Given the description of an element on the screen output the (x, y) to click on. 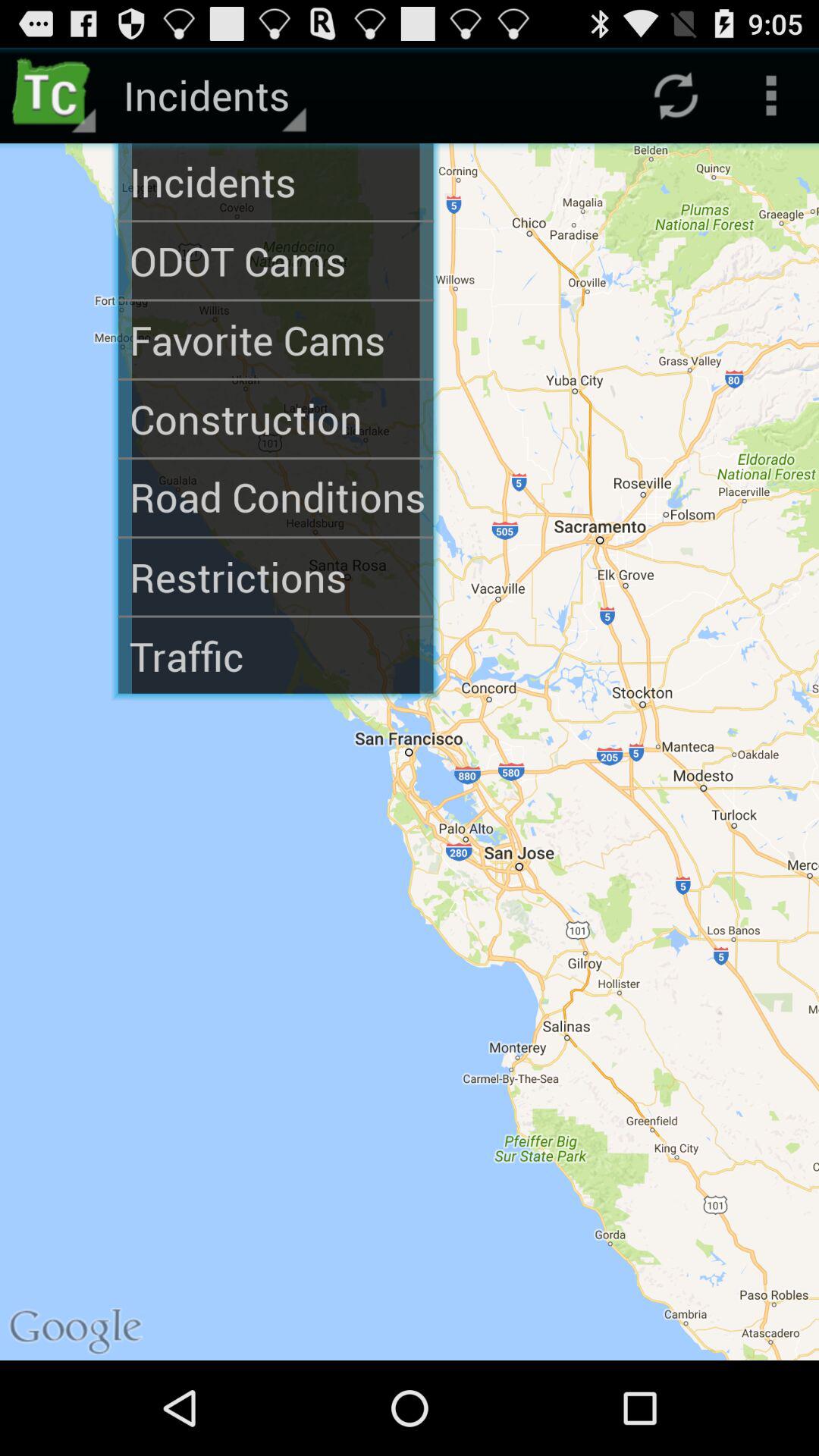
turn off odot cams icon (275, 260)
